Given the description of an element on the screen output the (x, y) to click on. 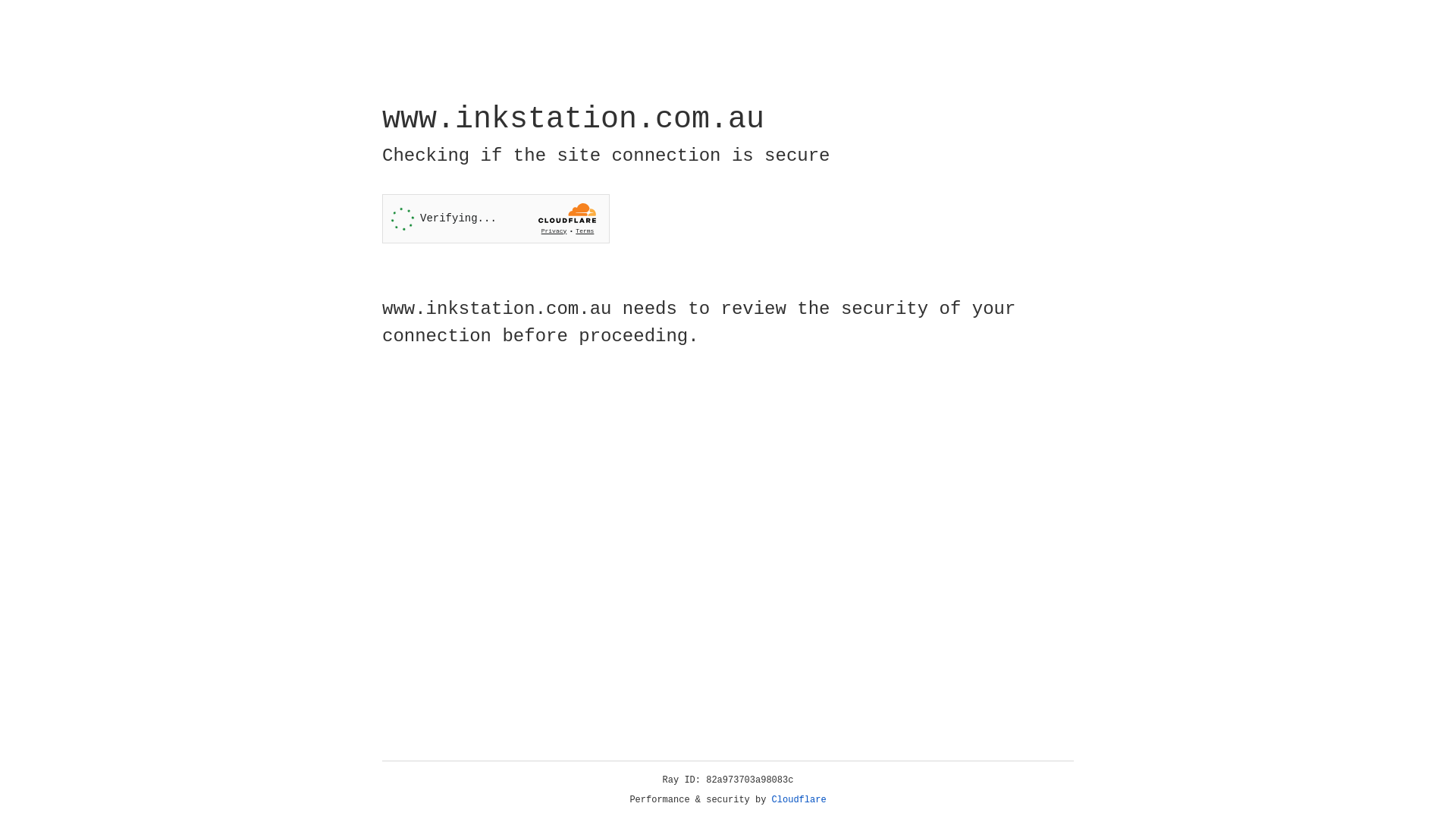
Cloudflare Element type: text (798, 799)
Widget containing a Cloudflare security challenge Element type: hover (495, 218)
